Given the description of an element on the screen output the (x, y) to click on. 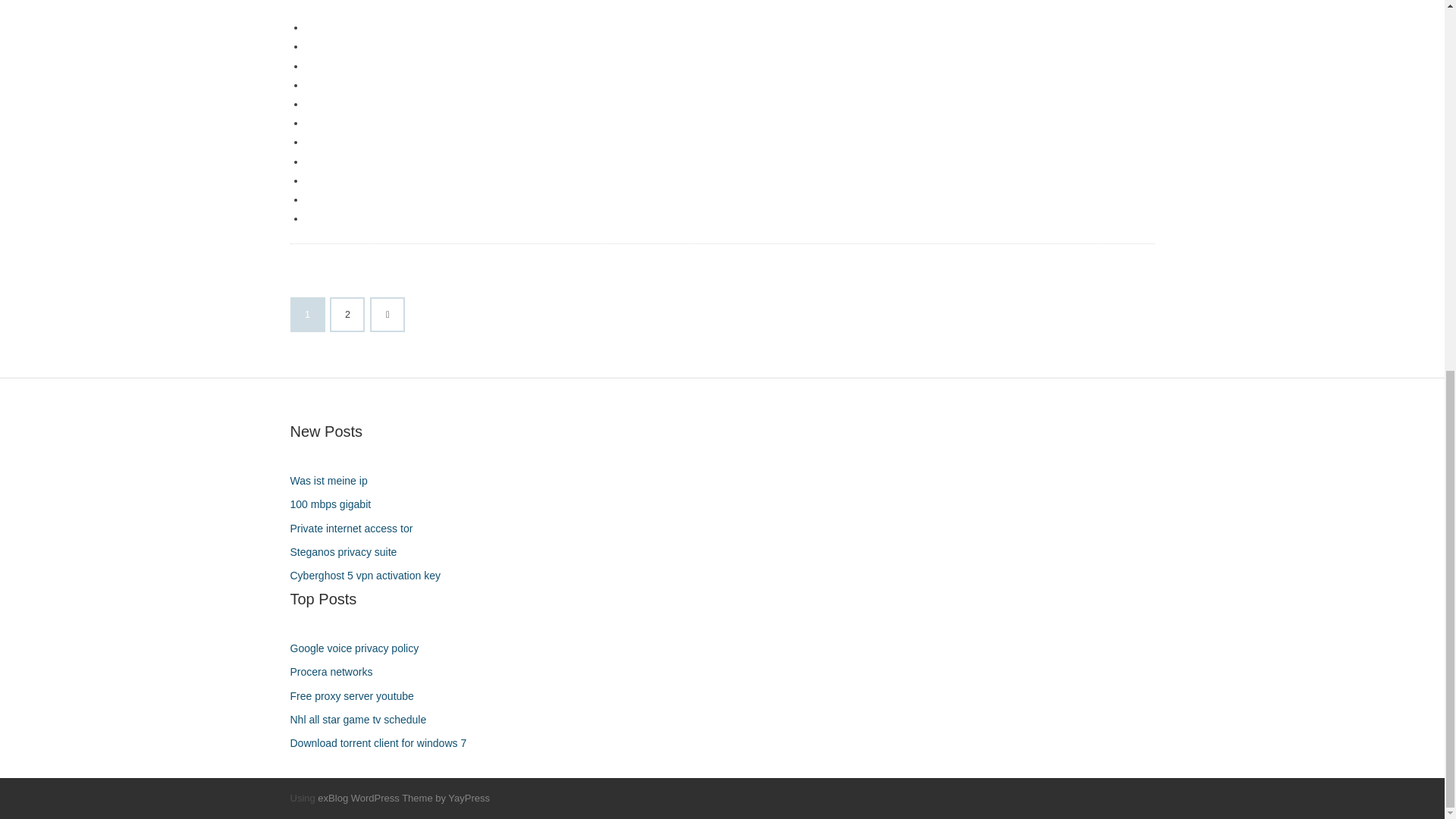
Steganos privacy suite (348, 552)
Cyberghost 5 vpn activation key (370, 575)
2 (346, 314)
Private internet access tor (356, 528)
exBlog WordPress Theme by YayPress (403, 797)
Procera networks (336, 671)
100 mbps gigabit (335, 504)
Download torrent client for windows 7 (383, 743)
Nhl all star game tv schedule (363, 720)
Google voice privacy policy (359, 648)
